Given the description of an element on the screen output the (x, y) to click on. 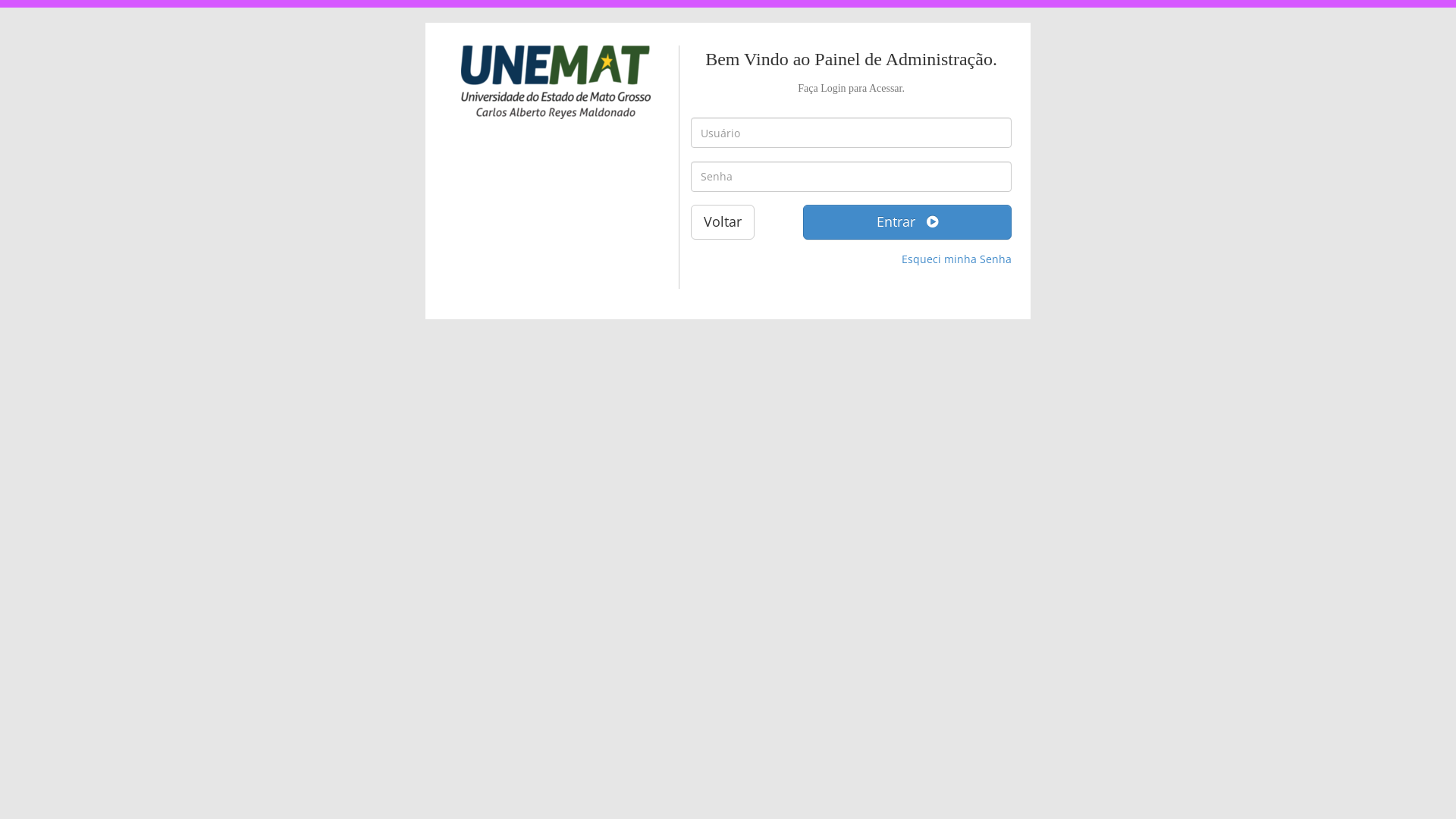
Esqueci minha Senha Element type: text (956, 258)
Entrar   Element type: text (907, 221)
Voltar Element type: text (722, 221)
